Given the description of an element on the screen output the (x, y) to click on. 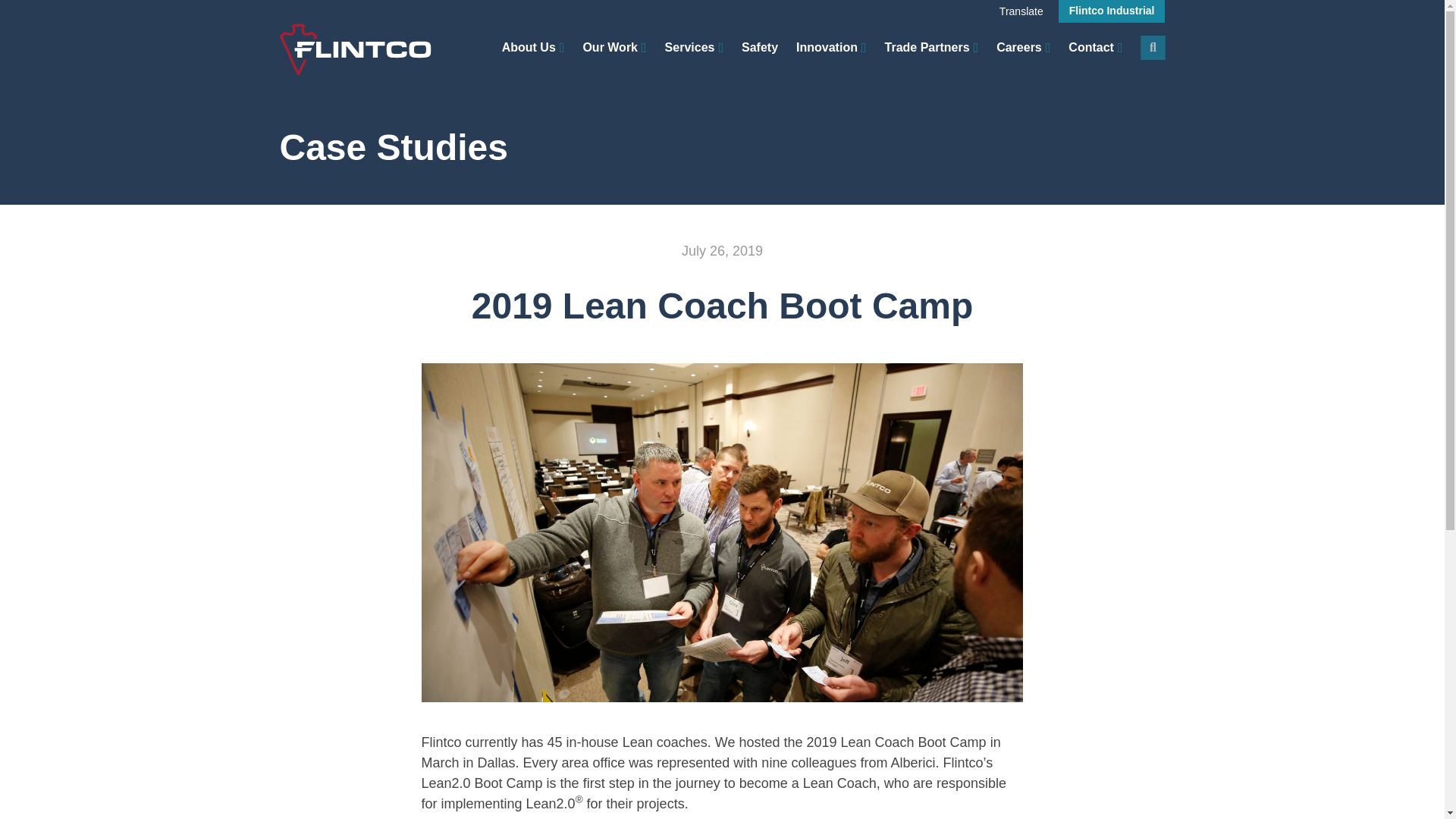
Our Work (614, 46)
Go to Home Page (354, 48)
Innovation (831, 46)
Services (694, 46)
Translate (1020, 11)
Safety (759, 46)
Trade Partners (931, 46)
About Us (533, 46)
Flintco Industrial (1112, 11)
